Given the description of an element on the screen output the (x, y) to click on. 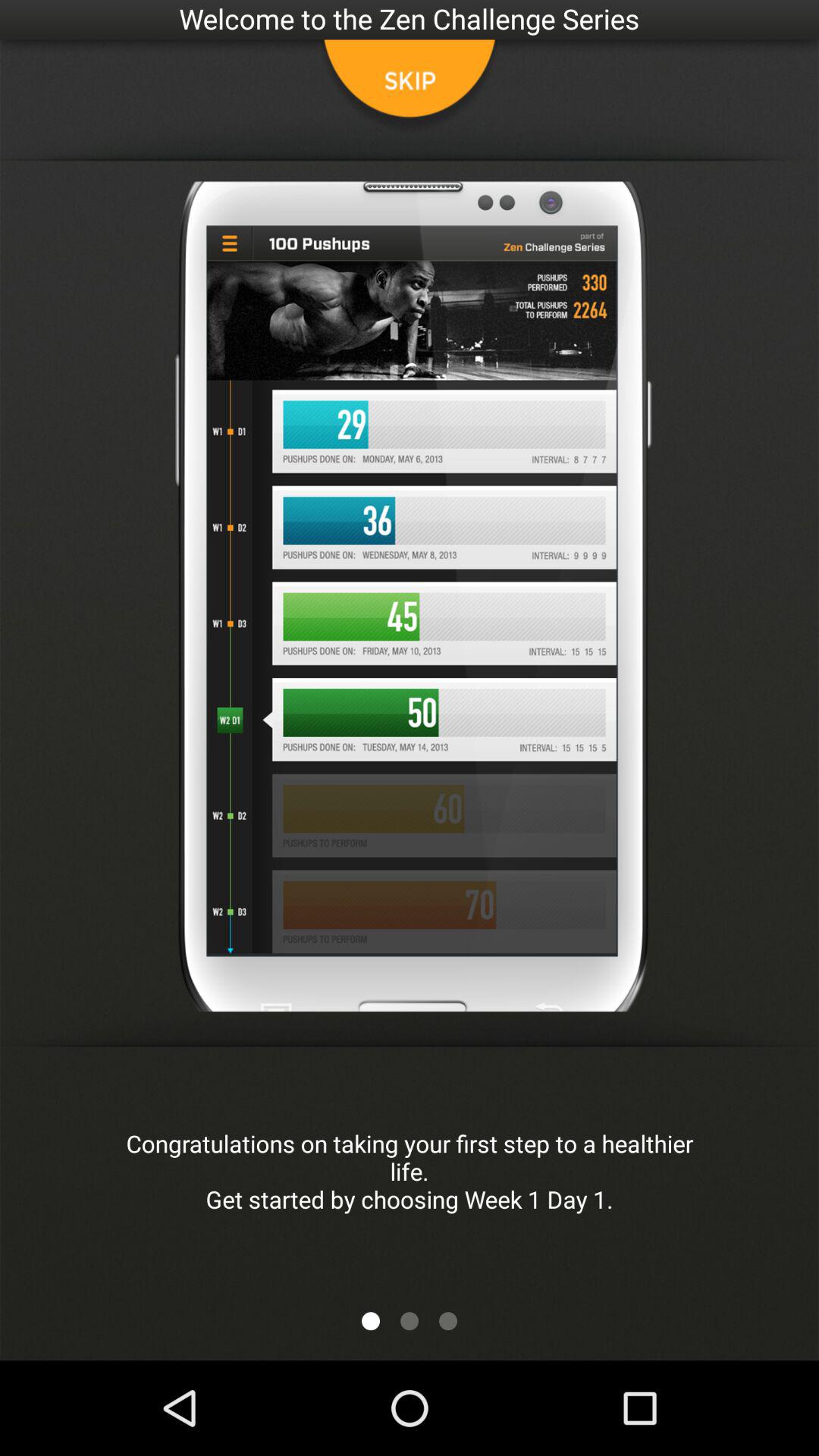
next button (448, 1321)
